Given the description of an element on the screen output the (x, y) to click on. 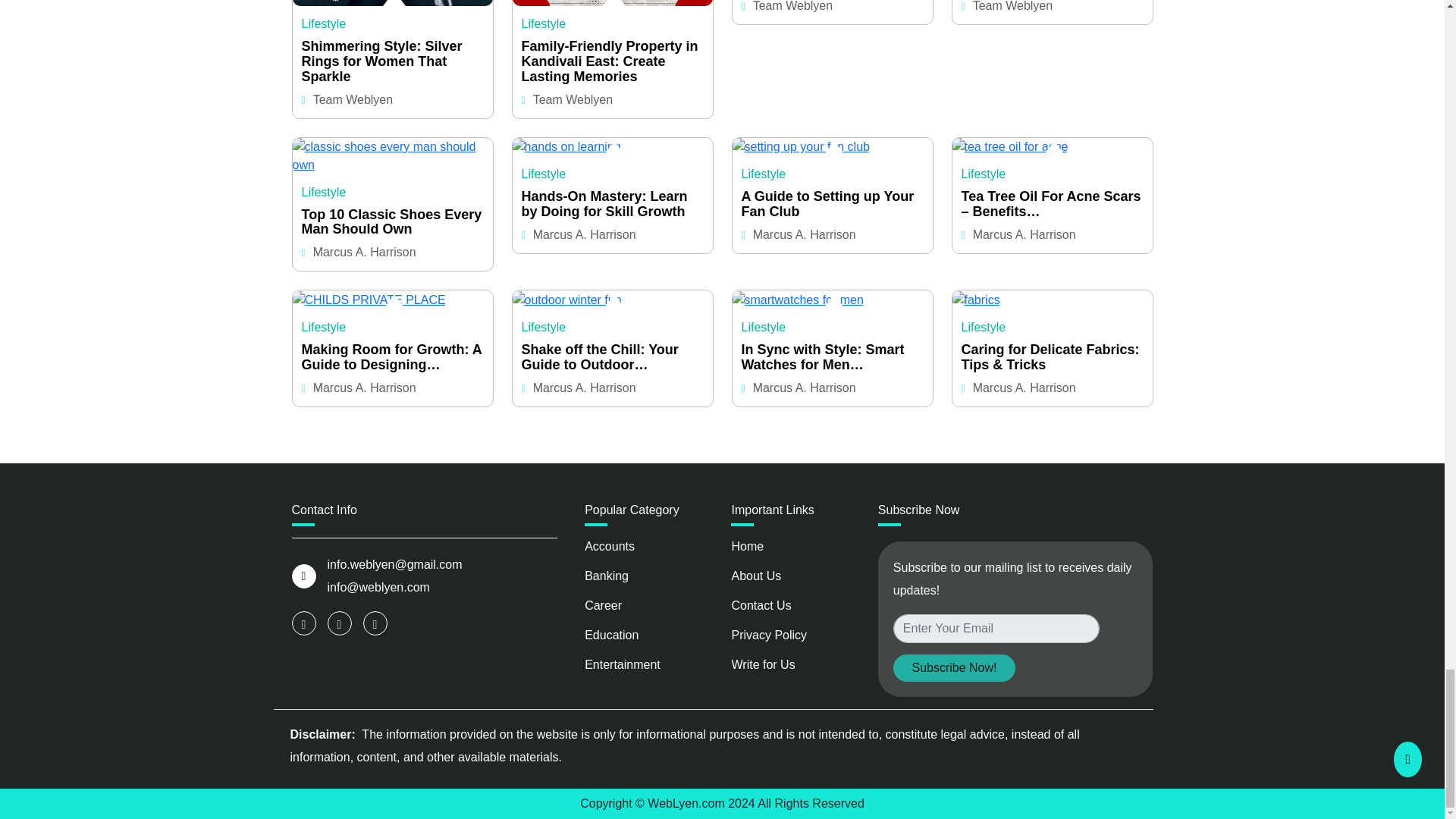
Subscribe Now! (953, 667)
